Given the description of an element on the screen output the (x, y) to click on. 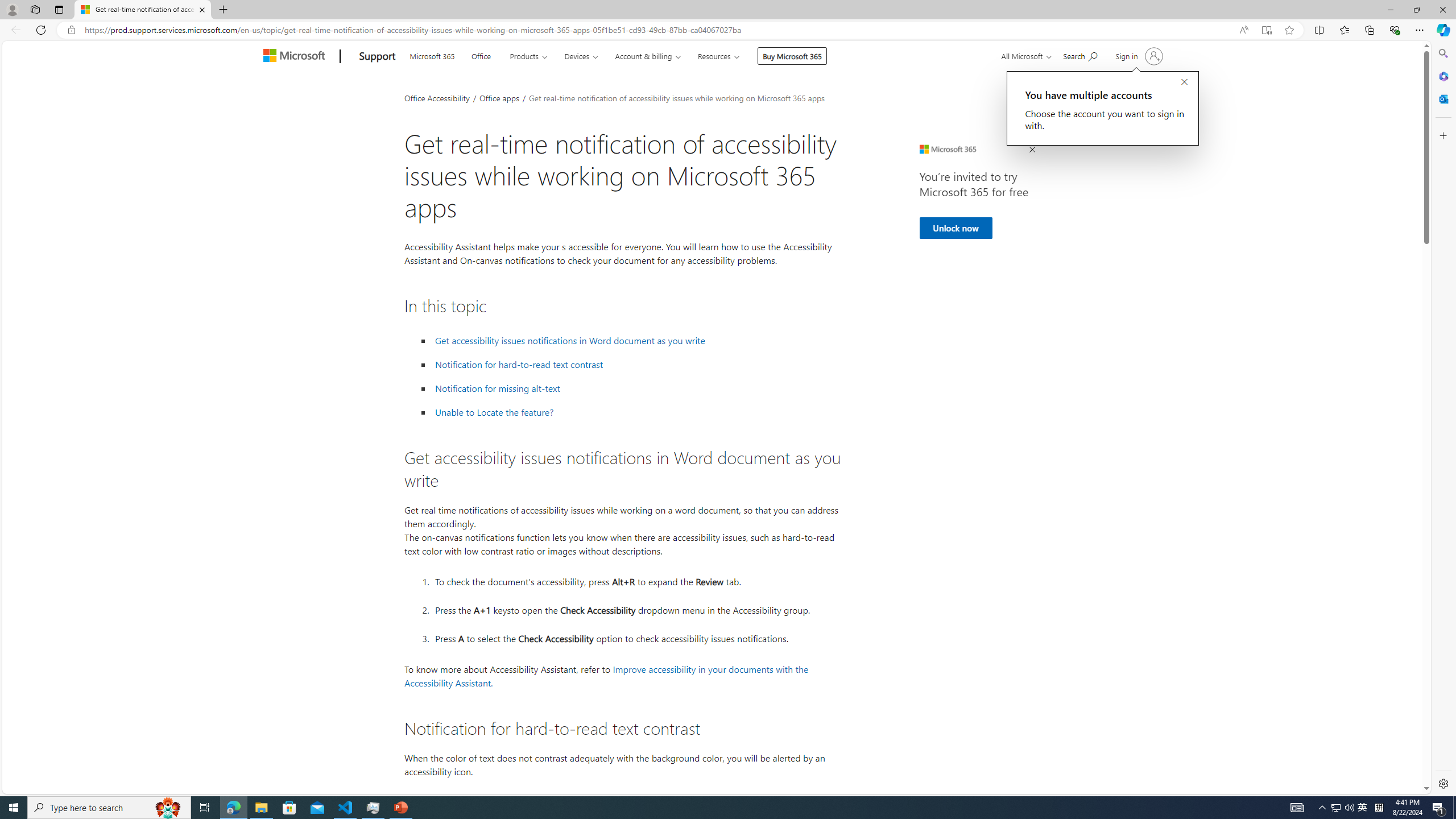
Favorites (1344, 29)
New Tab (223, 9)
View site information (70, 29)
Buy Microsoft 365 (792, 55)
Search for help (1080, 54)
Office (480, 54)
Side bar (1443, 418)
 Unable to Locate the feature? (494, 412)
Collections (1369, 29)
Customize (1442, 135)
Microsoft 365 (432, 54)
